Given the description of an element on the screen output the (x, y) to click on. 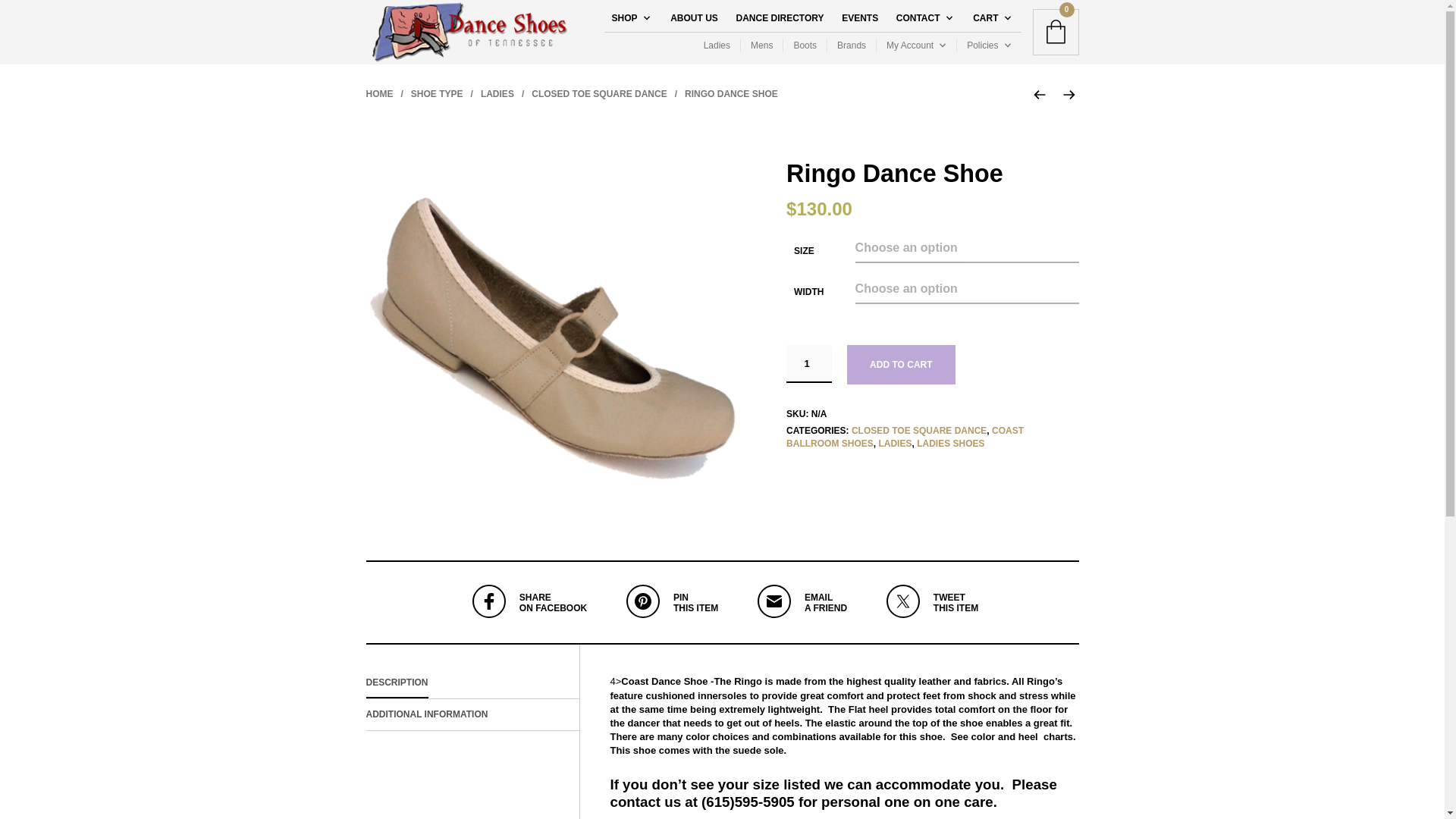
SHOP (628, 17)
Ladies (721, 45)
EVENTS (859, 17)
DANCE DIRECTORY (779, 17)
ABOUT US (693, 17)
Mens (761, 45)
CART (989, 17)
CONTACT (921, 17)
1 (808, 363)
